Given the description of an element on the screen output the (x, y) to click on. 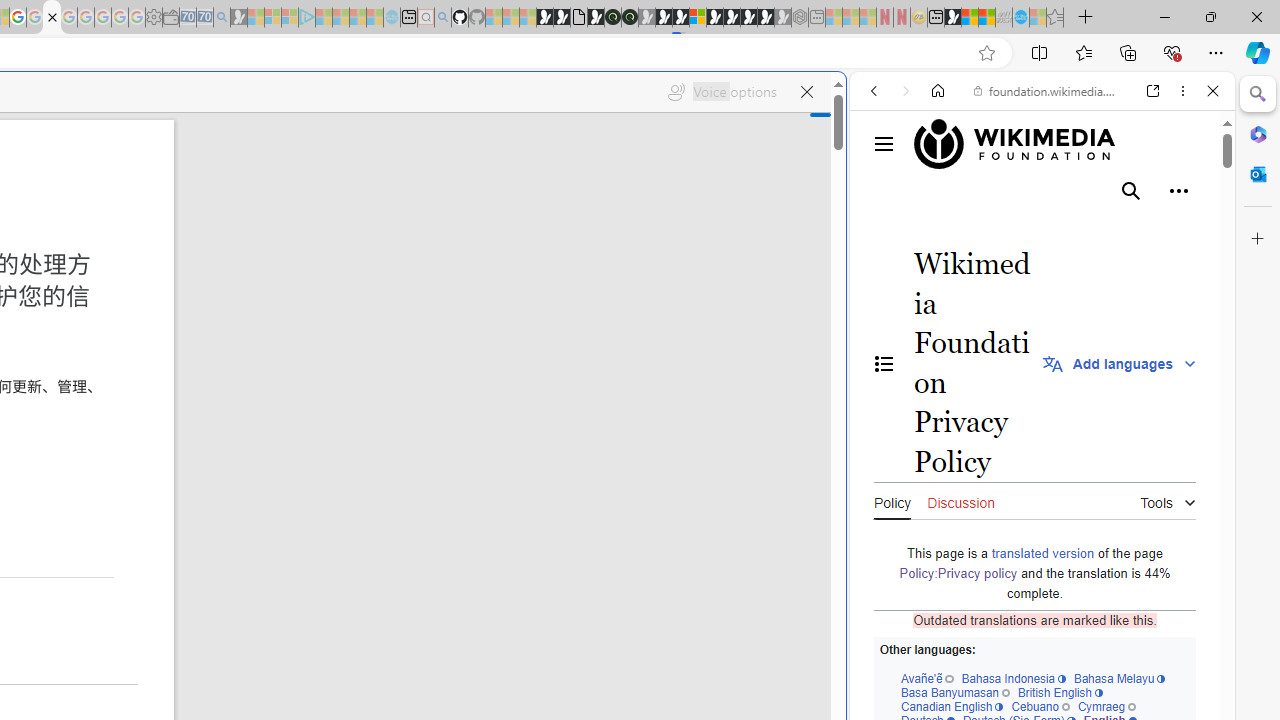
Wiktionary (1034, 669)
Wikimedia Foundation Governance Wiki (1024, 143)
foundation.wikimedia.org (1045, 90)
translated version (1042, 552)
